Given the description of an element on the screen output the (x, y) to click on. 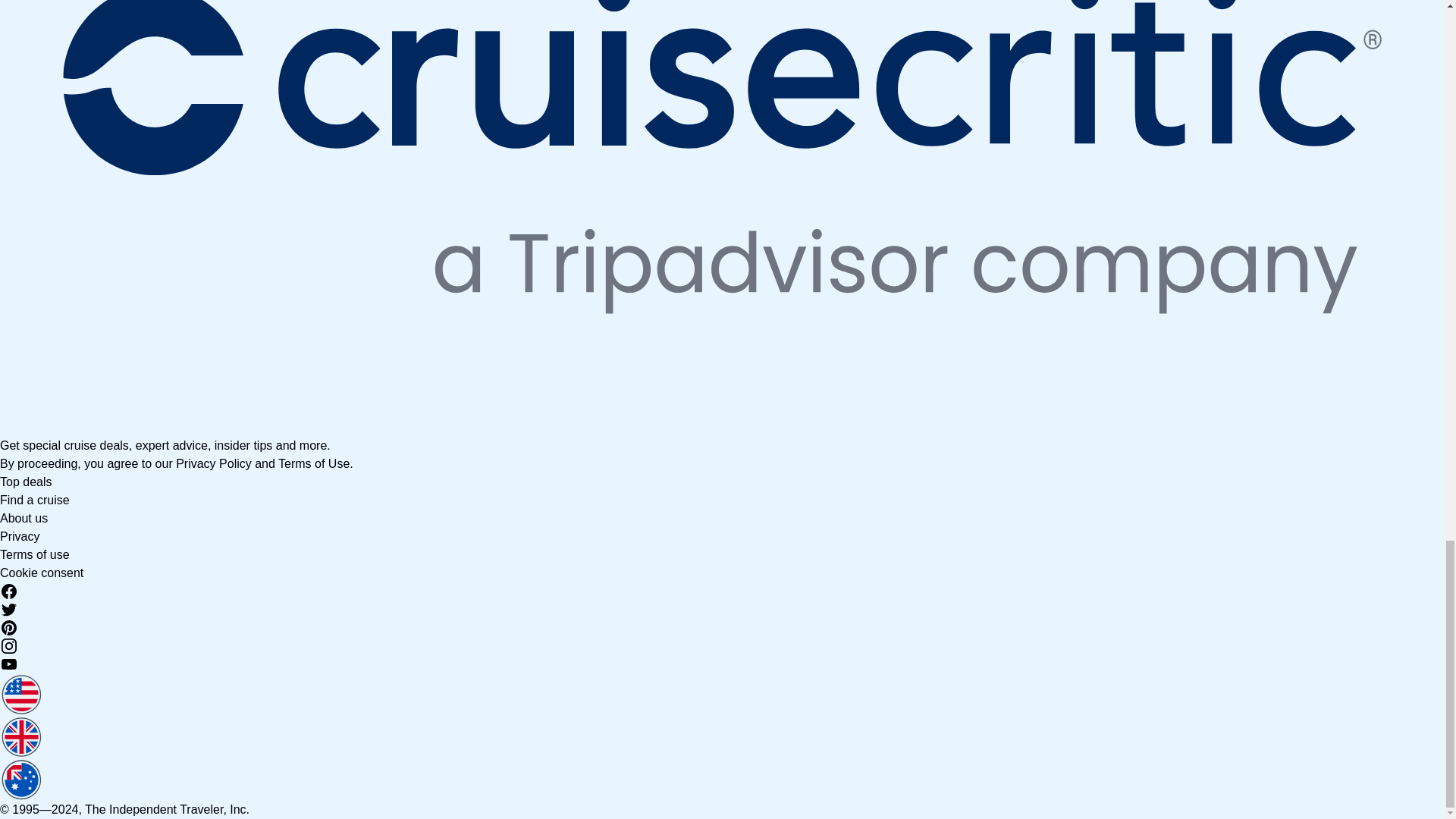
Terms of Use (313, 463)
Terms of use (34, 554)
Top deals (26, 481)
Privacy (19, 535)
About us (24, 517)
Privacy Policy (213, 463)
Find a cruise (34, 499)
Cookie consent (41, 573)
